Given the description of an element on the screen output the (x, y) to click on. 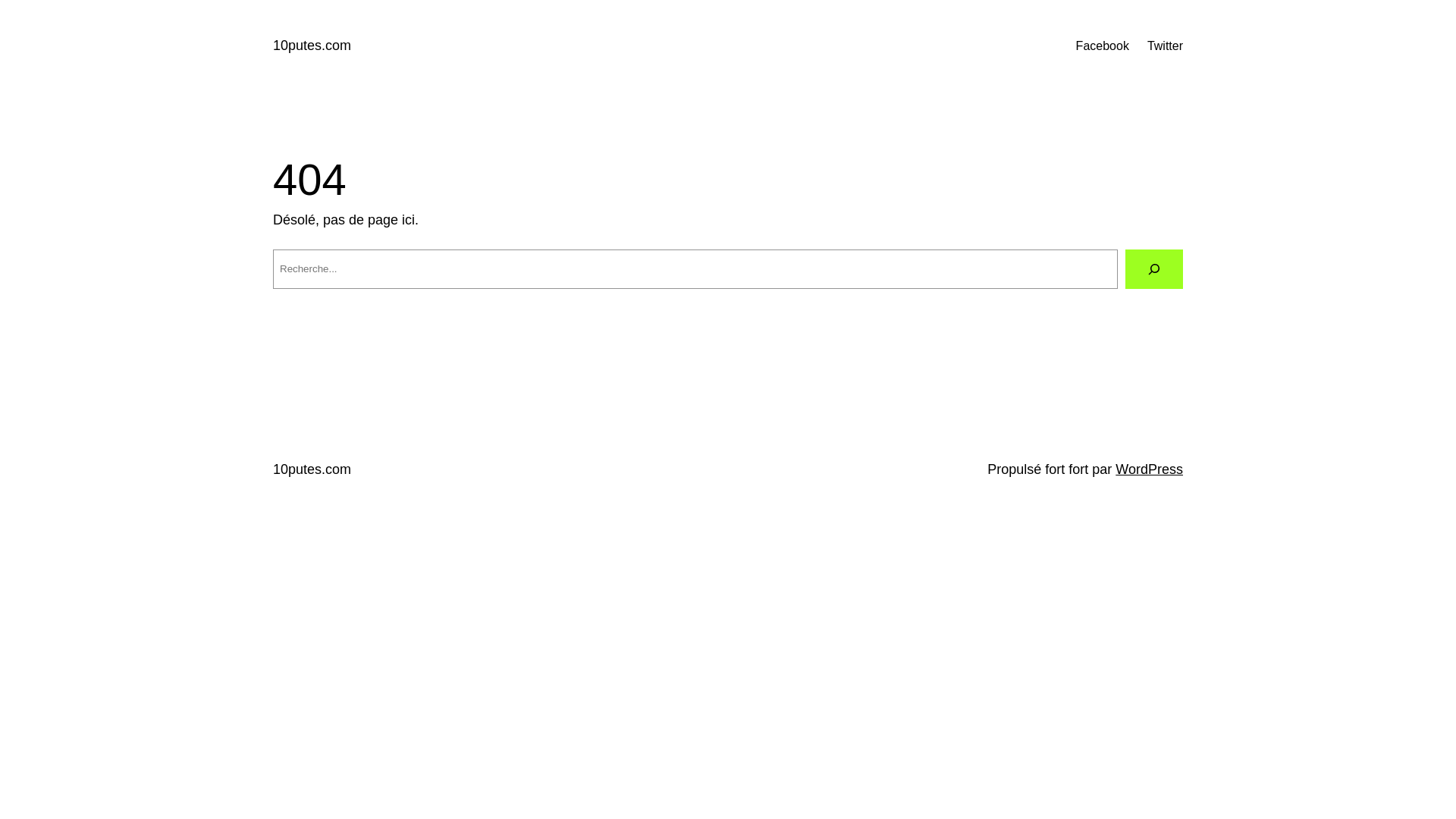
10putes.com Element type: text (312, 45)
Twitter Element type: text (1165, 46)
WordPress Element type: text (1149, 468)
10putes.com Element type: text (312, 468)
Facebook Element type: text (1102, 46)
